Given the description of an element on the screen output the (x, y) to click on. 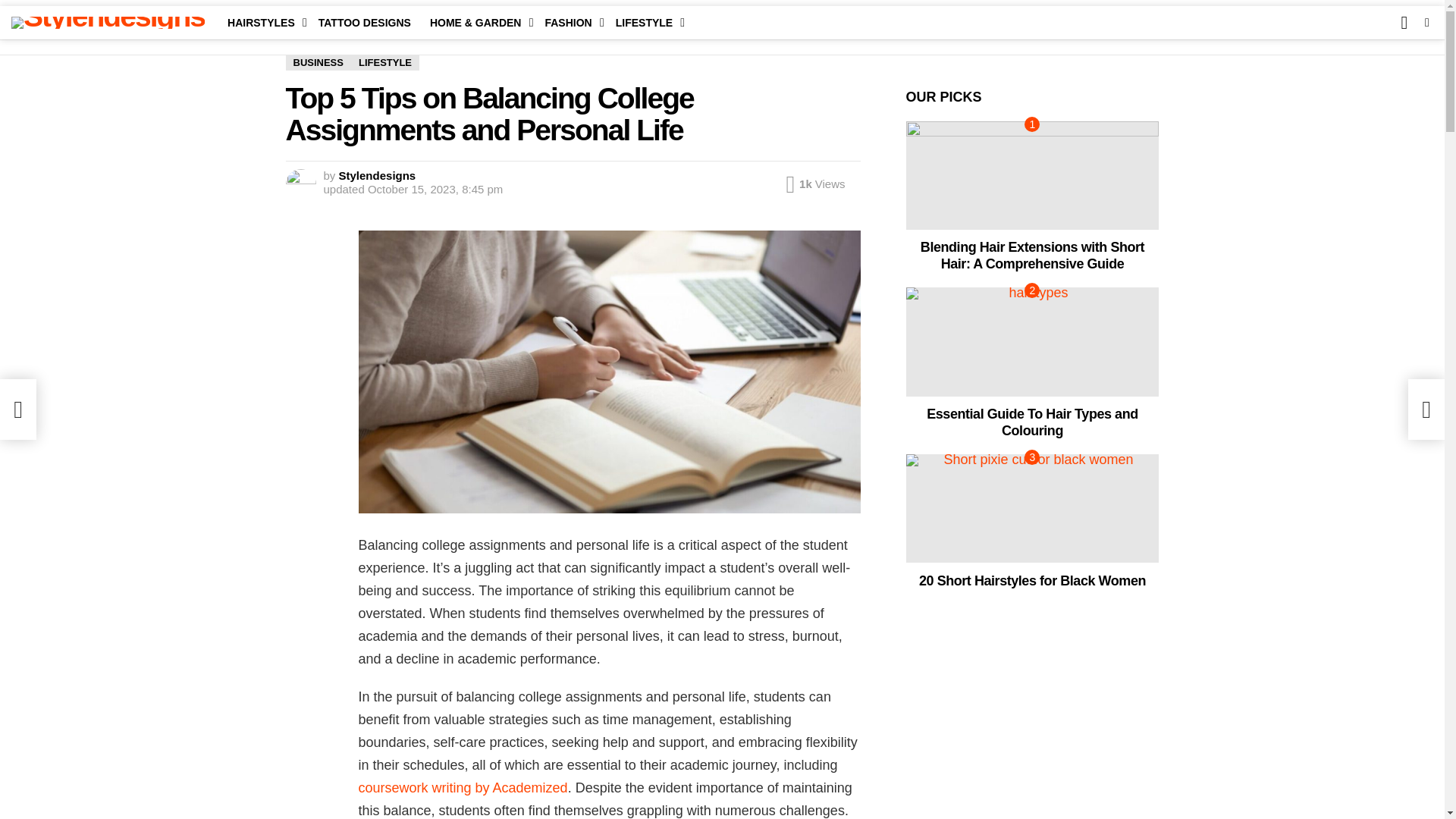
LIFESTYLE (646, 22)
HAIRSTYLES (263, 22)
Essential Guide To Hair Types and Colouring (1031, 341)
FASHION (570, 22)
TATTOO DESIGNS (365, 22)
BUSINESS (317, 62)
Posts by Stylendesigns (377, 174)
